Given the description of an element on the screen output the (x, y) to click on. 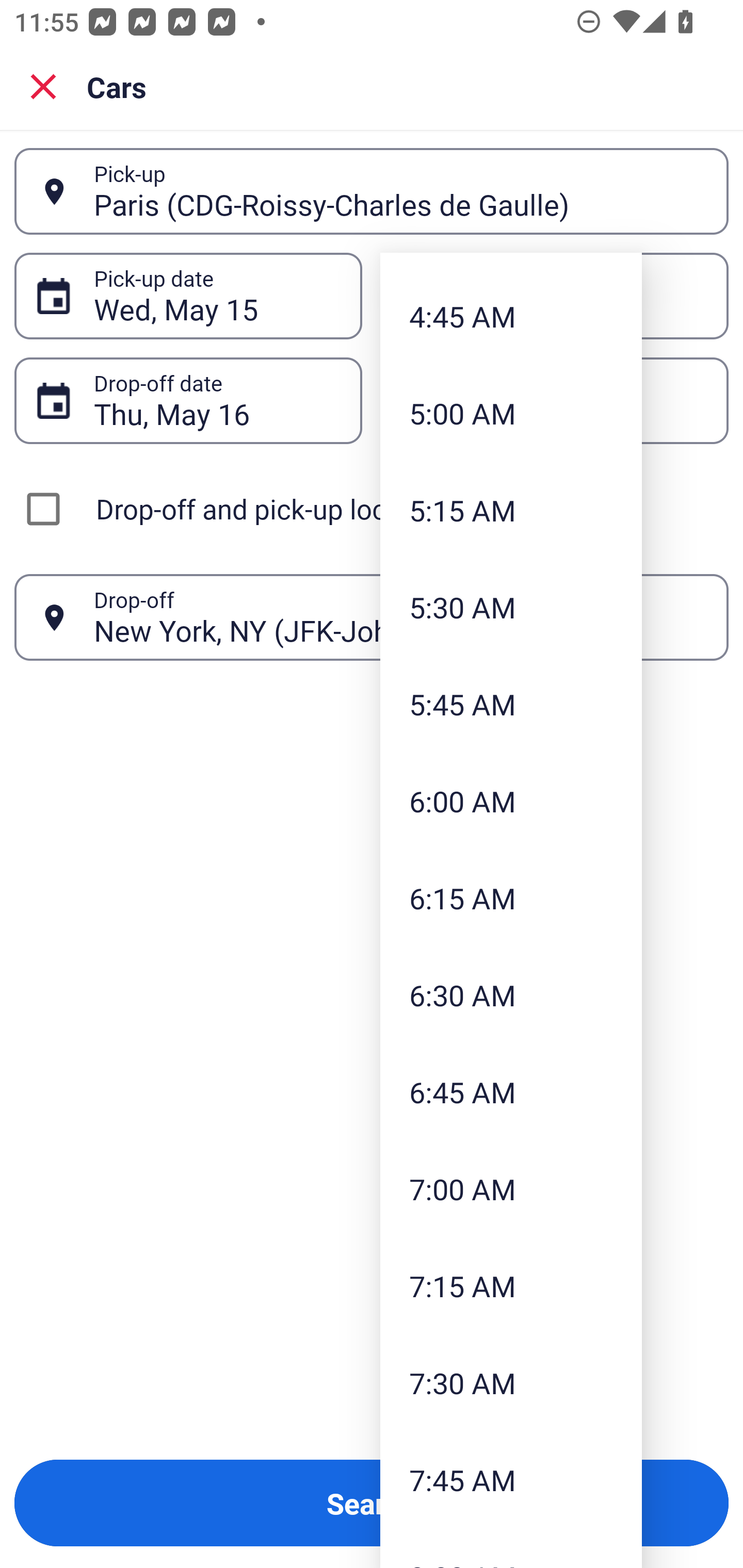
4:45 AM (510, 316)
5:00 AM (510, 412)
5:15 AM (510, 509)
5:30 AM (510, 606)
5:45 AM (510, 703)
6:00 AM (510, 800)
6:15 AM (510, 898)
6:30 AM (510, 994)
6:45 AM (510, 1090)
7:00 AM (510, 1188)
7:15 AM (510, 1285)
7:30 AM (510, 1382)
7:45 AM (510, 1479)
